Given the description of an element on the screen output the (x, y) to click on. 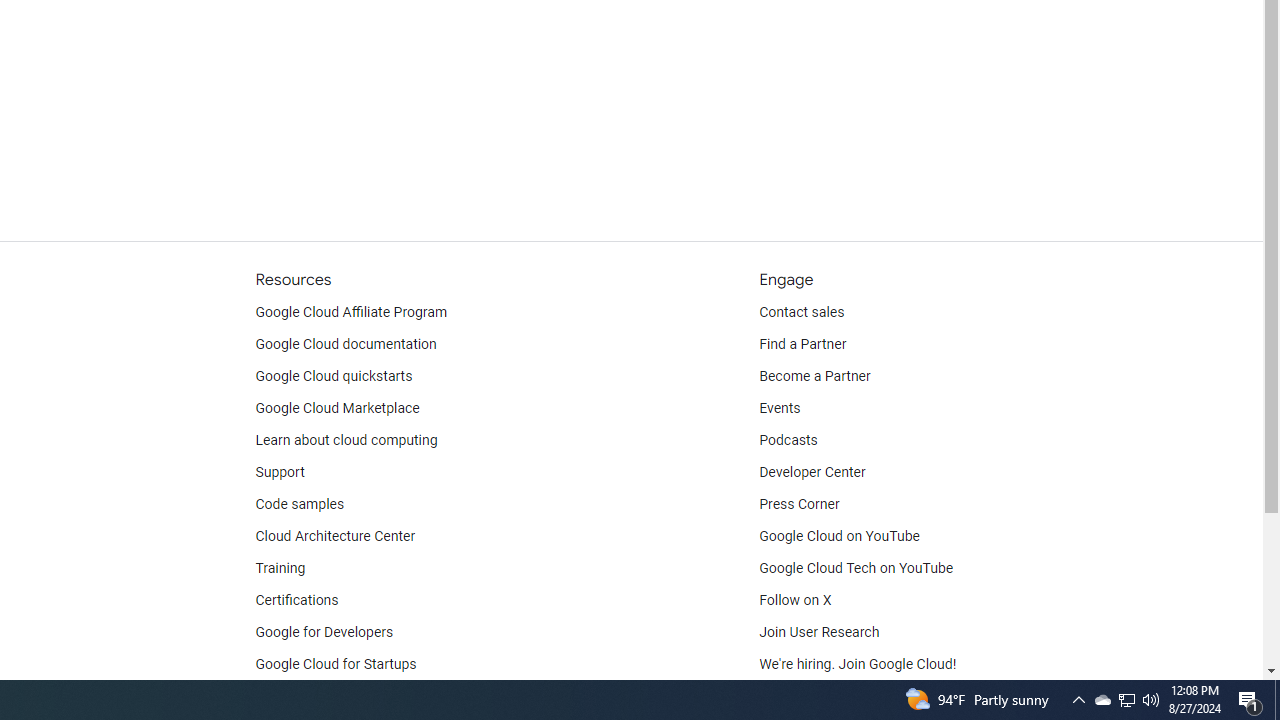
Google Cloud Affiliate Program (351, 312)
Join User Research (819, 632)
Developer Center (812, 472)
Google for Developers (324, 632)
Learn about cloud computing (345, 440)
Code samples (299, 504)
Follow on X (795, 600)
Contact sales (801, 312)
Podcasts (788, 440)
Training (279, 568)
Google Cloud Marketplace (336, 408)
Certifications (296, 600)
Press Corner (799, 504)
